Given the description of an element on the screen output the (x, y) to click on. 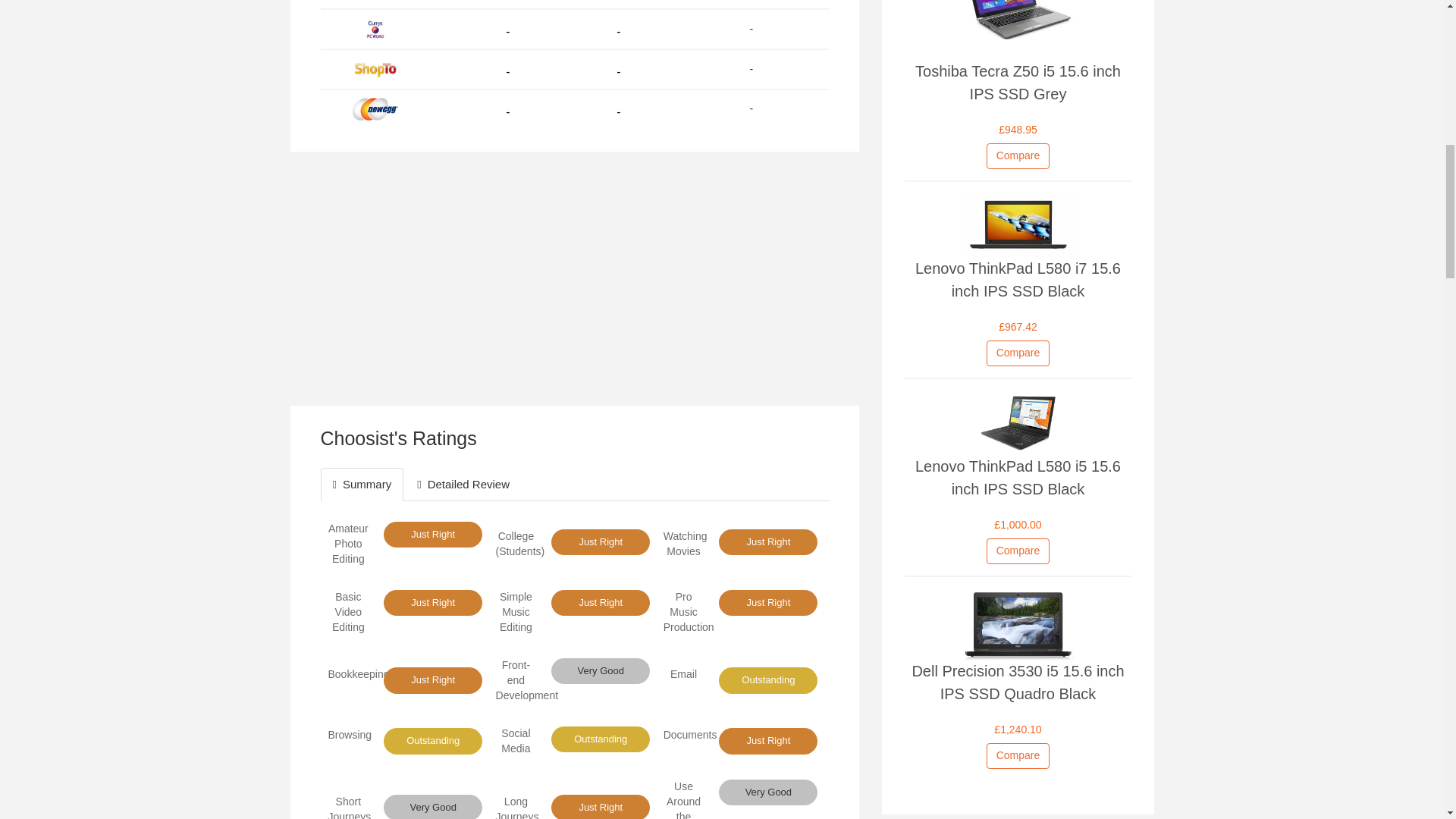
Pro Music Production (688, 611)
Bookkeeping (357, 674)
Summary (361, 483)
Detailed Review (462, 483)
Compare (1018, 155)
